Given the description of an element on the screen output the (x, y) to click on. 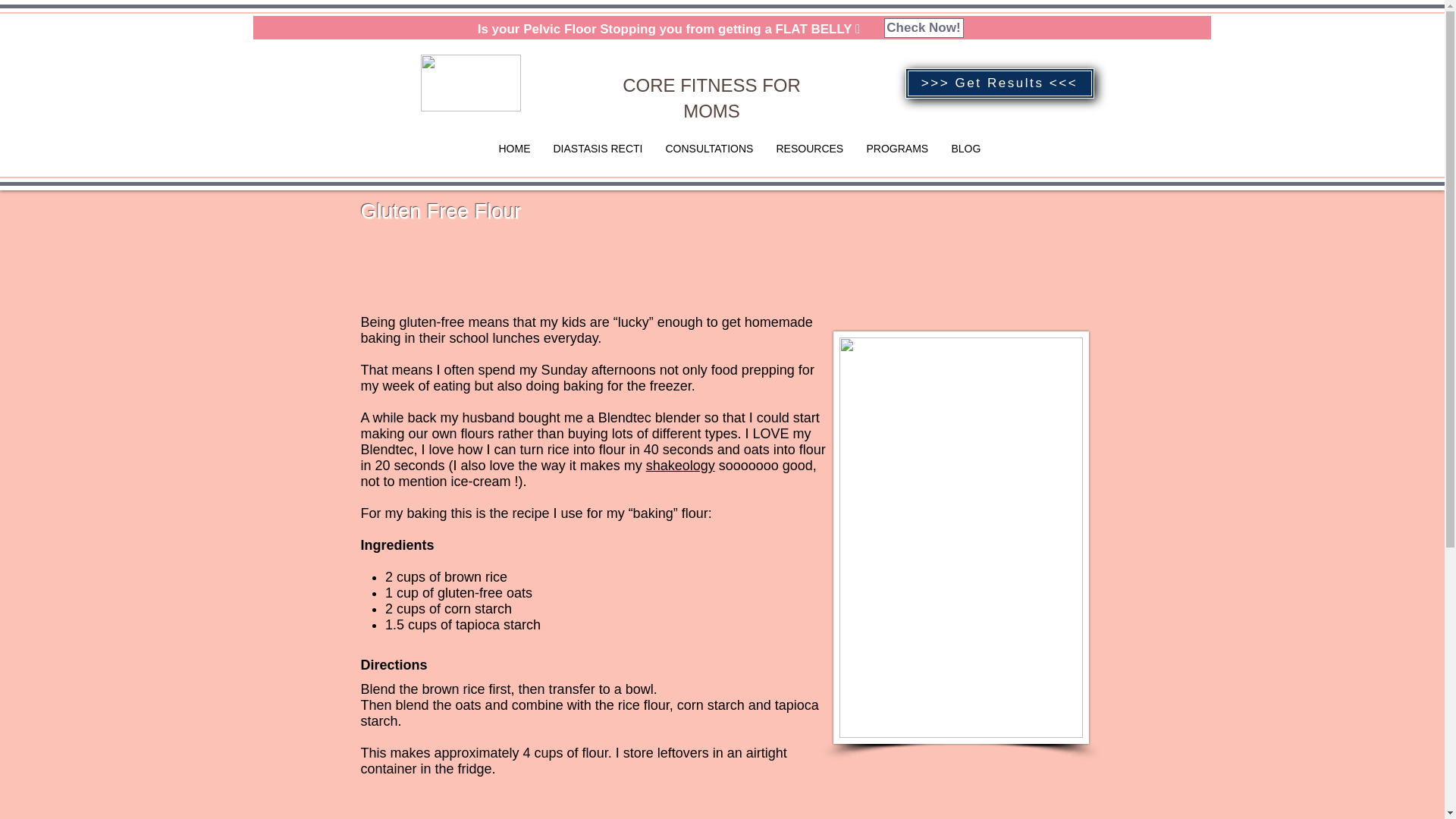
shakeology (680, 465)
CONSULTATIONS (708, 148)
PROGRAMS (898, 148)
Check Now! (923, 27)
HOME (513, 148)
BLOG (966, 148)
RESOURCES (809, 148)
DIASTASIS RECTI (597, 148)
